Given the description of an element on the screen output the (x, y) to click on. 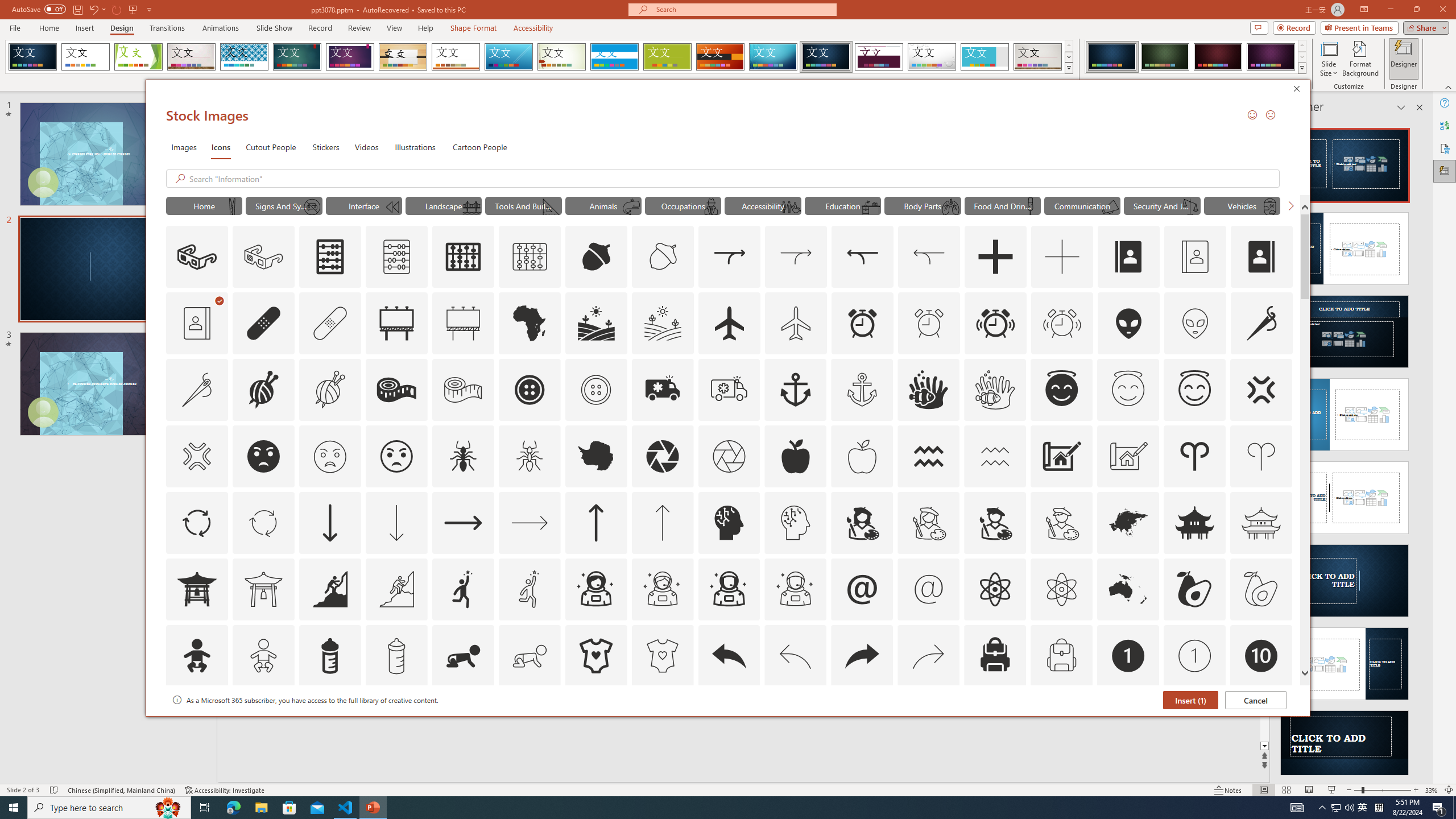
AutomationID: Icons_Atom (995, 588)
AutomationID: Icons_AstronautMale_M (795, 588)
AutomationID: Icons_AsianTemple1_M (263, 588)
AutomationID: Icons_At (861, 588)
Cartoon People (479, 146)
AutomationID: Icons_Australia (1128, 588)
"Interface" Icons. (363, 205)
AutomationID: Icons_Avocado (1194, 588)
AutomationID: Icons_Anchor_M (861, 389)
AutomationID: Icons_PlaneWindow_M (1269, 206)
